Given the description of an element on the screen output the (x, y) to click on. 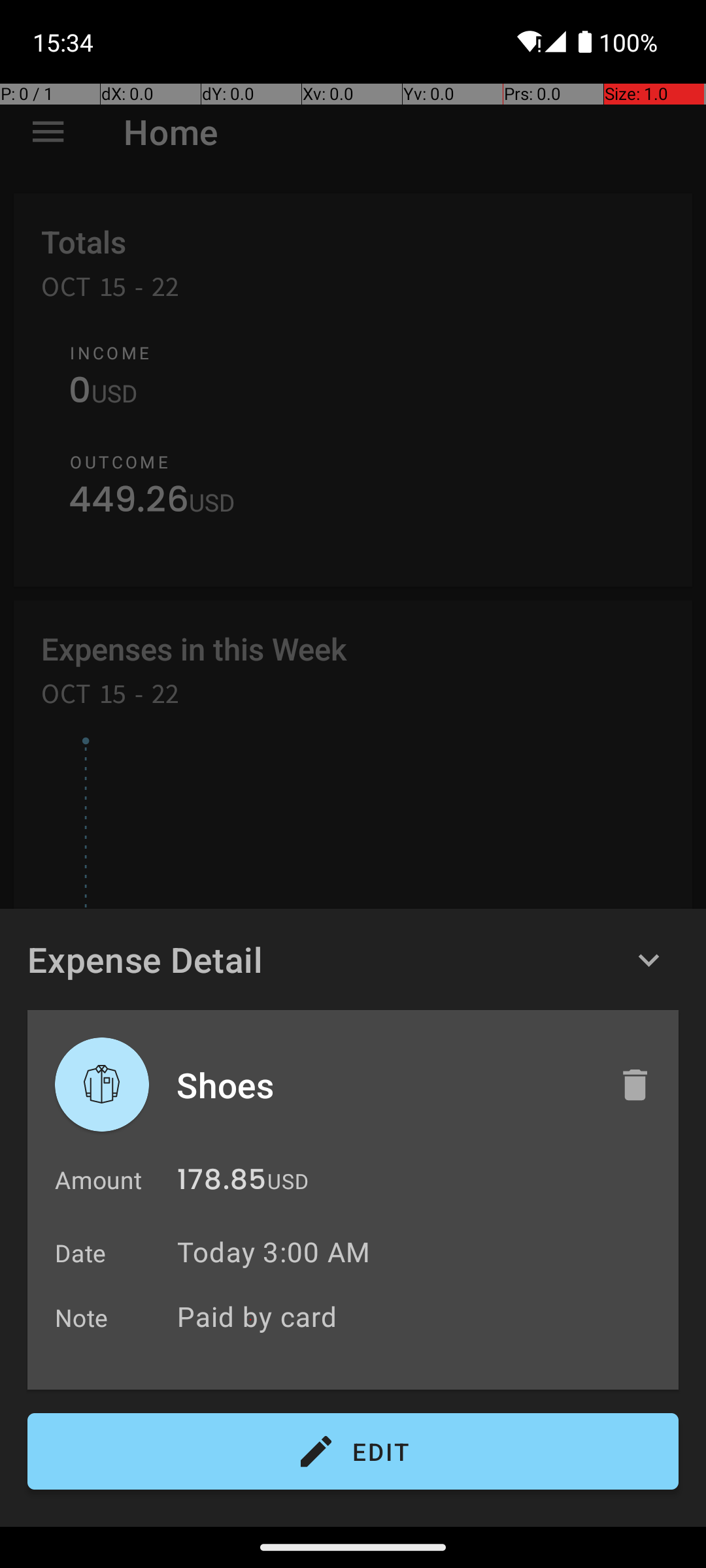
Shoes Element type: android.widget.TextView (383, 1084)
178.85 Element type: android.widget.TextView (221, 1182)
Today 3:00 AM Element type: android.widget.TextView (273, 1251)
